Given the description of an element on the screen output the (x, y) to click on. 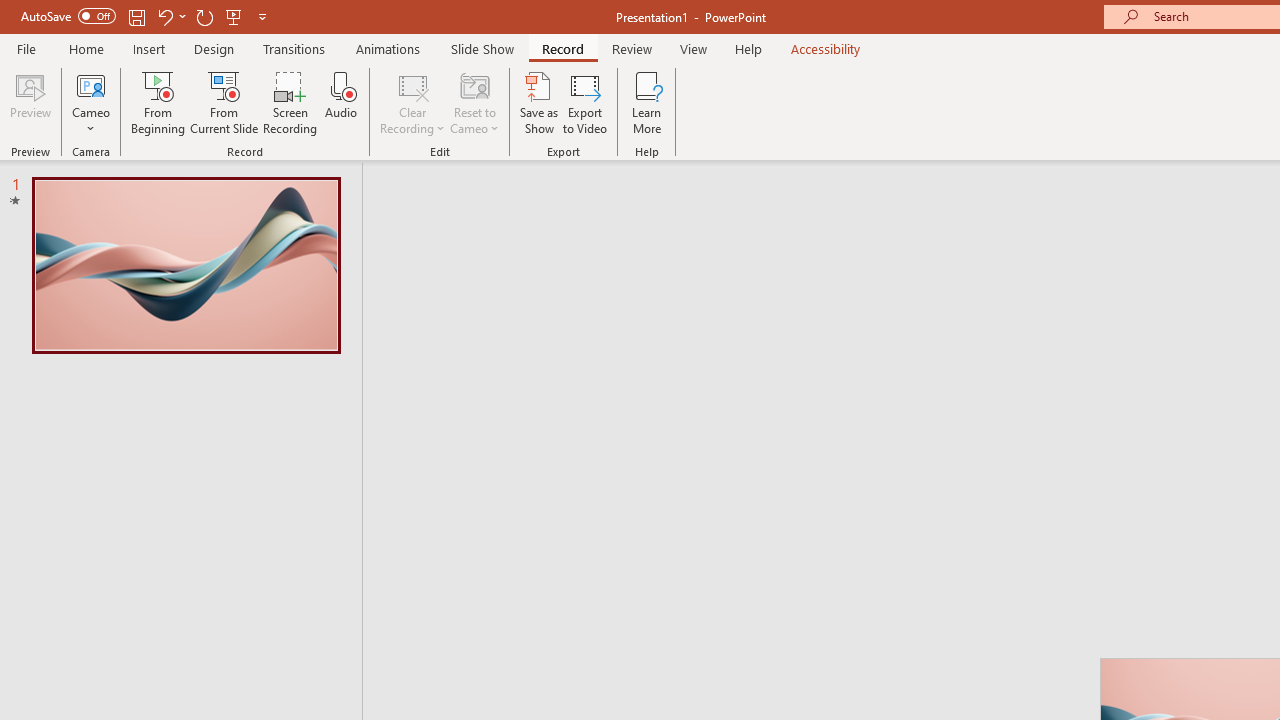
From Beginning... (158, 102)
Export to Video (585, 102)
Screen Recording (290, 102)
Learn More (646, 102)
